Given the description of an element on the screen output the (x, y) to click on. 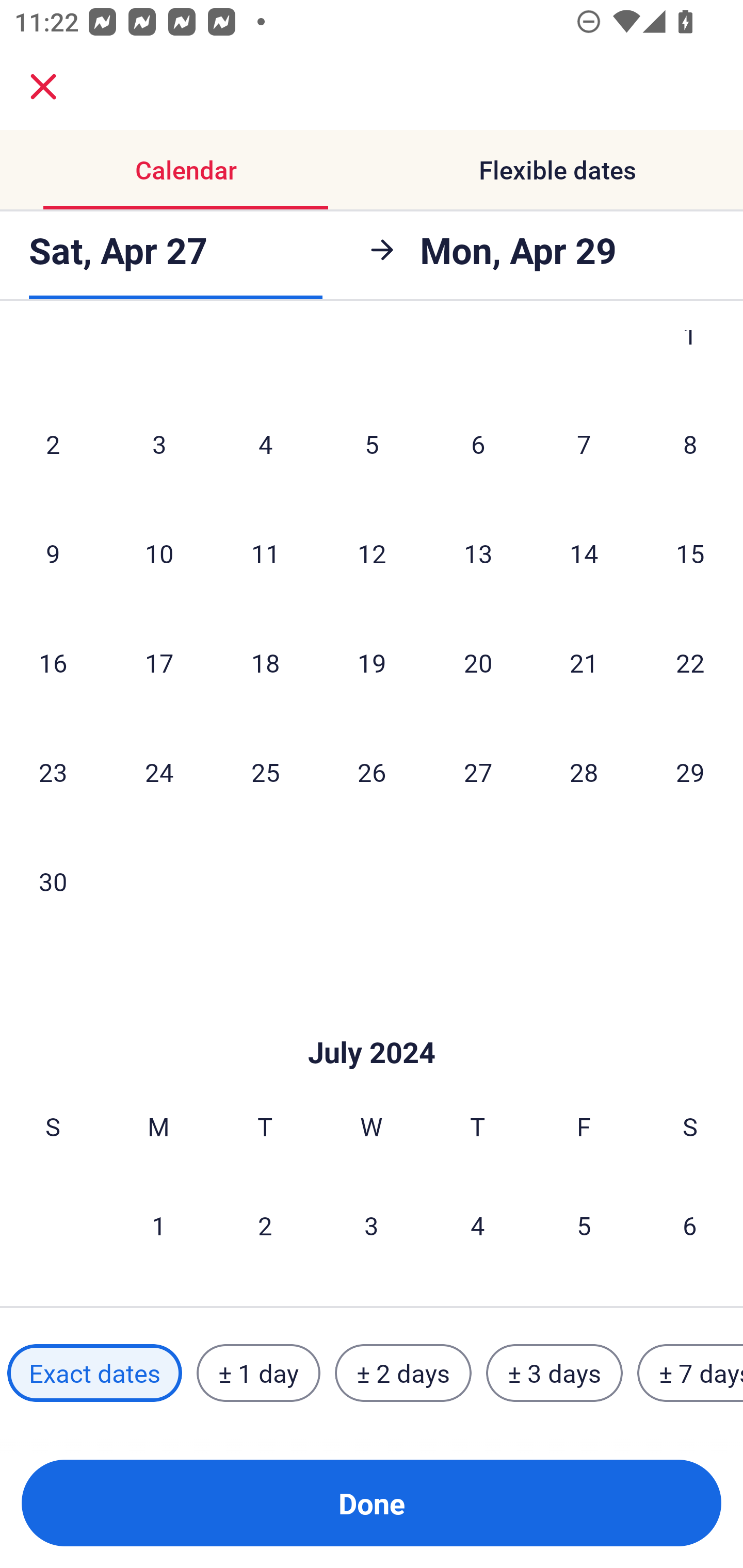
close. (43, 86)
Flexible dates (557, 170)
2 Sunday, June 2, 2024 (53, 443)
3 Monday, June 3, 2024 (159, 443)
4 Tuesday, June 4, 2024 (265, 443)
5 Wednesday, June 5, 2024 (371, 443)
6 Thursday, June 6, 2024 (477, 443)
7 Friday, June 7, 2024 (584, 443)
8 Saturday, June 8, 2024 (690, 443)
9 Sunday, June 9, 2024 (53, 553)
10 Monday, June 10, 2024 (159, 553)
11 Tuesday, June 11, 2024 (265, 553)
12 Wednesday, June 12, 2024 (371, 553)
13 Thursday, June 13, 2024 (477, 553)
14 Friday, June 14, 2024 (584, 553)
15 Saturday, June 15, 2024 (690, 553)
16 Sunday, June 16, 2024 (53, 662)
17 Monday, June 17, 2024 (159, 662)
18 Tuesday, June 18, 2024 (265, 662)
19 Wednesday, June 19, 2024 (371, 662)
20 Thursday, June 20, 2024 (477, 662)
21 Friday, June 21, 2024 (584, 662)
22 Saturday, June 22, 2024 (690, 662)
23 Sunday, June 23, 2024 (53, 771)
24 Monday, June 24, 2024 (159, 771)
25 Tuesday, June 25, 2024 (265, 771)
26 Wednesday, June 26, 2024 (371, 771)
27 Thursday, June 27, 2024 (477, 771)
28 Friday, June 28, 2024 (584, 771)
29 Saturday, June 29, 2024 (690, 771)
30 Sunday, June 30, 2024 (53, 880)
Skip to Done (371, 1021)
1 Monday, July 1, 2024 (158, 1224)
2 Tuesday, July 2, 2024 (264, 1224)
3 Wednesday, July 3, 2024 (371, 1224)
4 Thursday, July 4, 2024 (477, 1224)
5 Friday, July 5, 2024 (583, 1224)
6 Saturday, July 6, 2024 (689, 1224)
Exact dates (94, 1372)
± 1 day (258, 1372)
± 2 days (403, 1372)
± 3 days (553, 1372)
± 7 days (690, 1372)
Done (371, 1502)
